Given the description of an element on the screen output the (x, y) to click on. 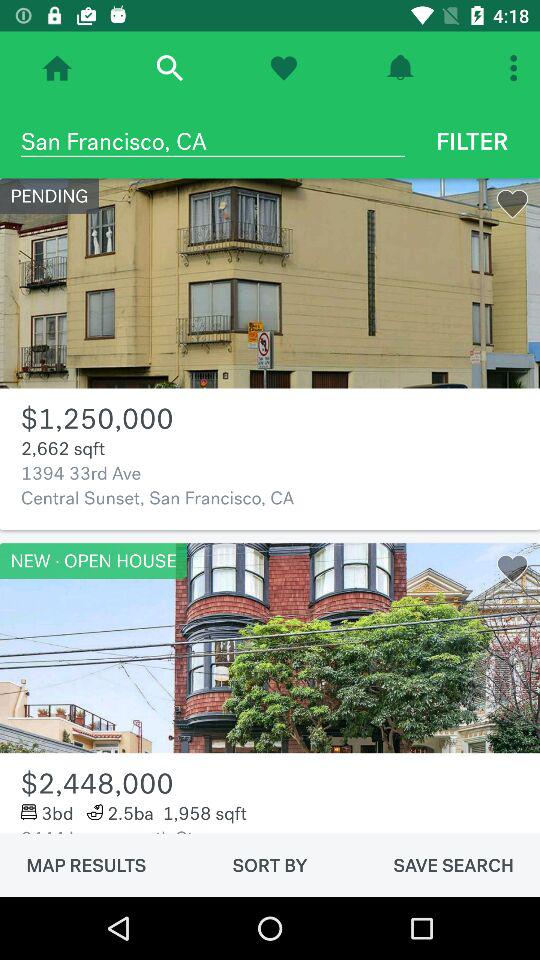
go to home (57, 68)
